Given the description of an element on the screen output the (x, y) to click on. 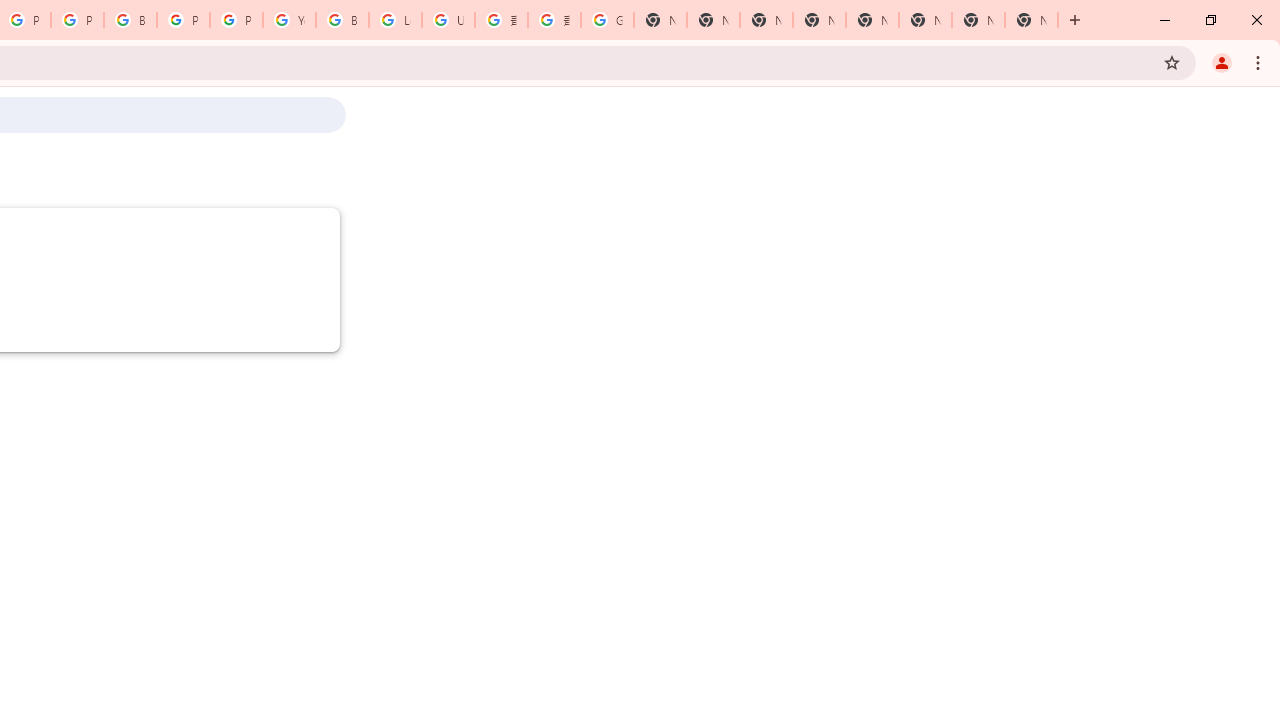
Privacy Help Center - Policies Help (77, 20)
